Given the description of an element on the screen output the (x, y) to click on. 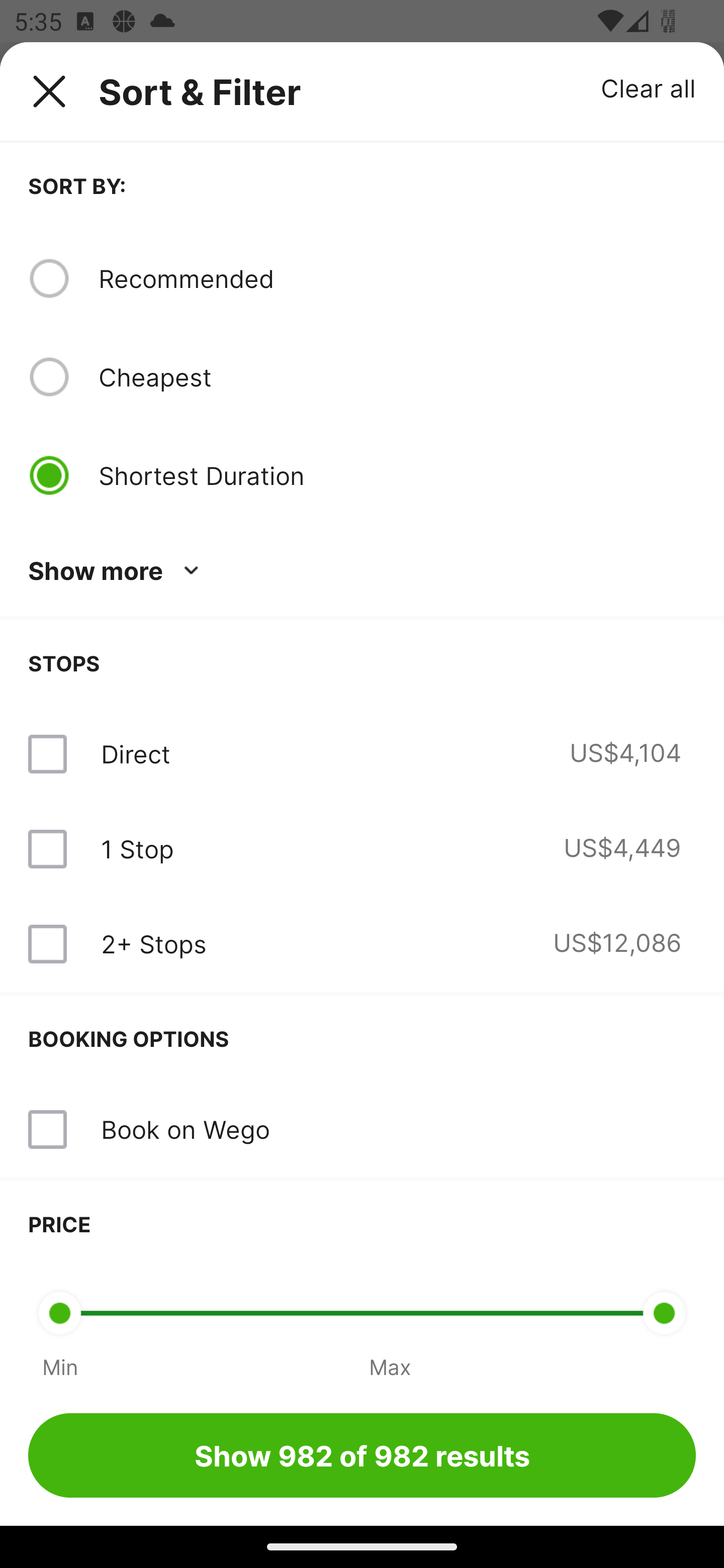
Clear all (648, 87)
Recommended  (396, 278)
Cheapest (396, 377)
Shortest Duration (396, 474)
Show more (116, 570)
Direct US$4,104 (362, 754)
Direct (135, 753)
1 Stop US$4,449 (362, 848)
1 Stop (136, 849)
2+ Stops US$12,086 (362, 943)
2+ Stops (153, 943)
Book on Wego (362, 1129)
Book on Wego (184, 1128)
Show 982 of 982 results (361, 1454)
